Given the description of an element on the screen output the (x, y) to click on. 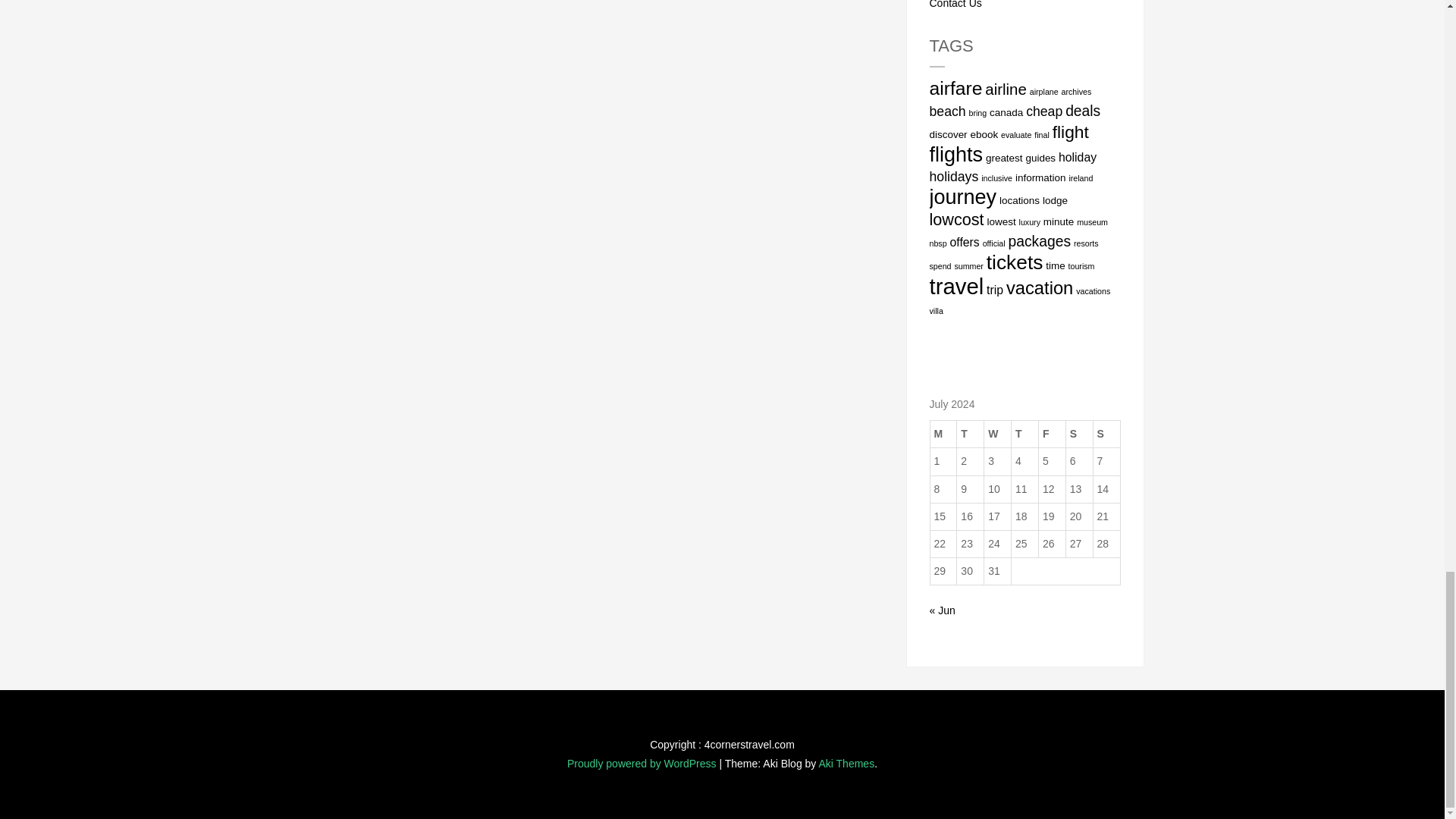
Saturday (1079, 433)
Thursday (1025, 433)
Wednesday (997, 433)
Friday (1051, 433)
Tuesday (970, 433)
Monday (943, 433)
Sunday (1106, 433)
